Given the description of an element on the screen output the (x, y) to click on. 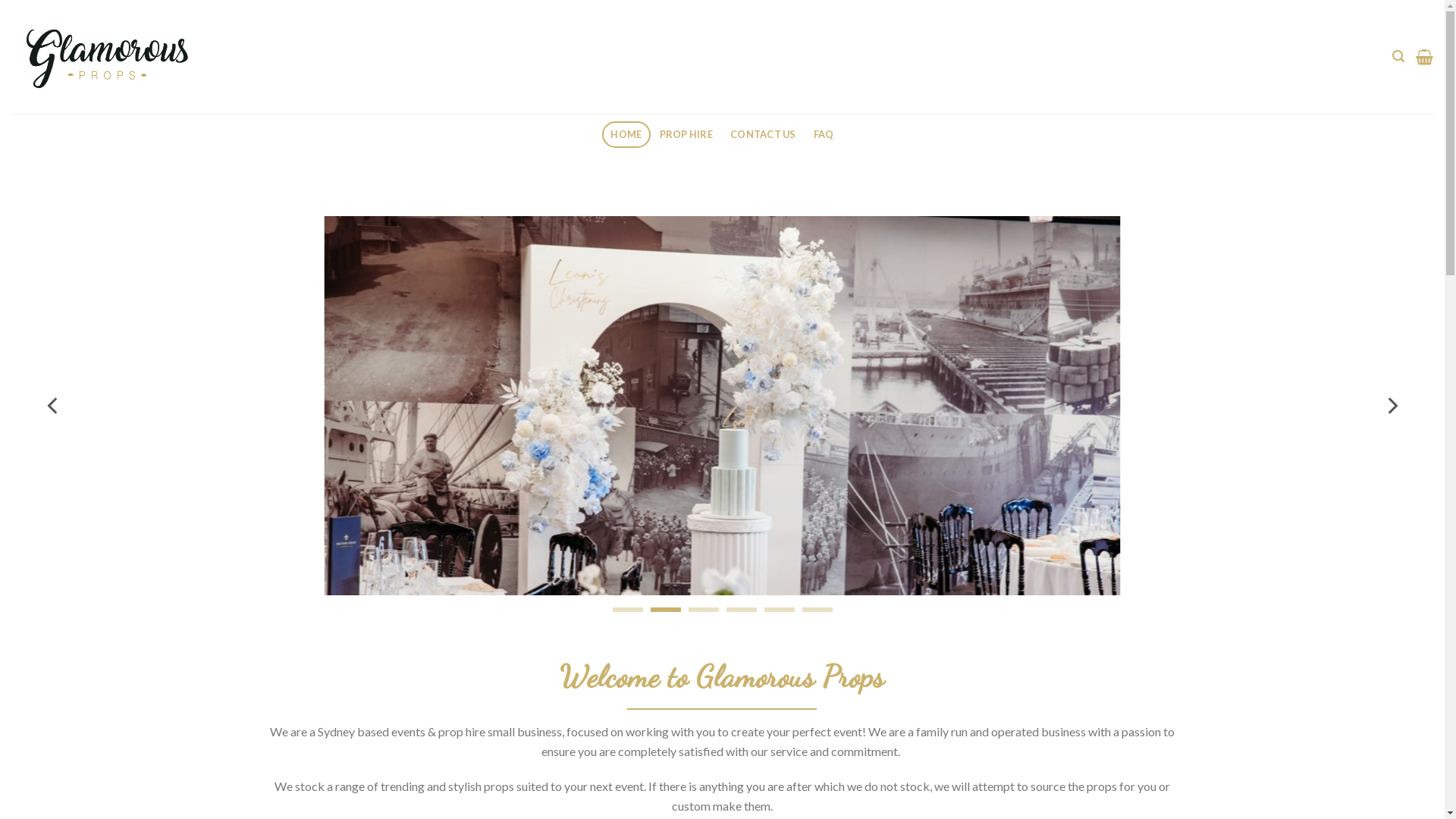
Skip to content Element type: text (0, 0)
Cart Element type: hover (1424, 56)
CONTACT US Element type: text (763, 134)
PROP HIRE Element type: text (685, 134)
Glamorous Props - Prop Hire for all Occasions and Events Element type: hover (105, 57)
FAQ Element type: text (823, 134)
HOME Element type: text (626, 134)
